Given the description of an element on the screen output the (x, y) to click on. 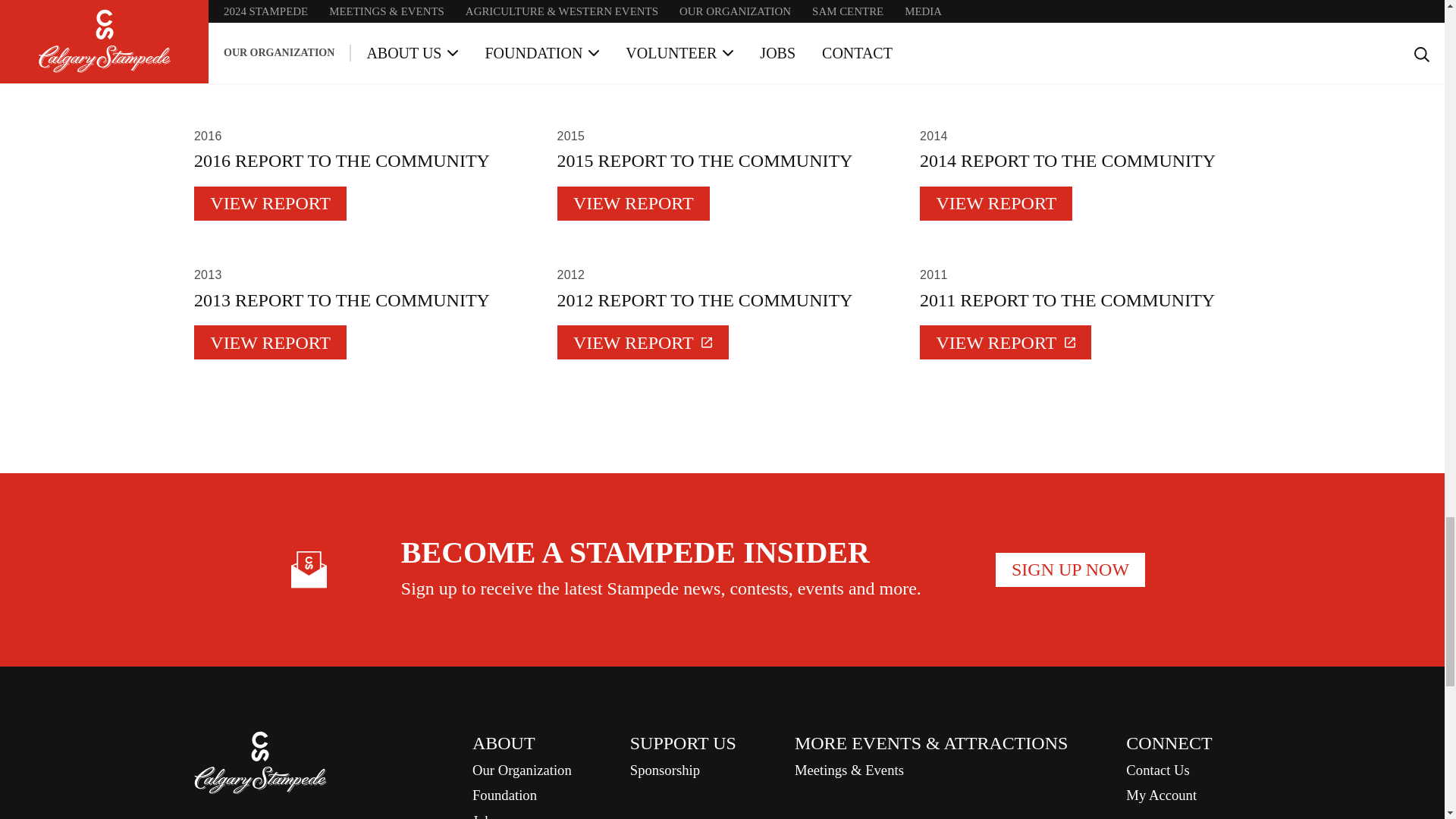
View Report (995, 203)
View Report (633, 203)
View Report (269, 63)
View Report (269, 342)
View Report (643, 342)
View Report (995, 63)
View Report (633, 63)
View Report (1005, 342)
View Report (269, 203)
